Given the description of an element on the screen output the (x, y) to click on. 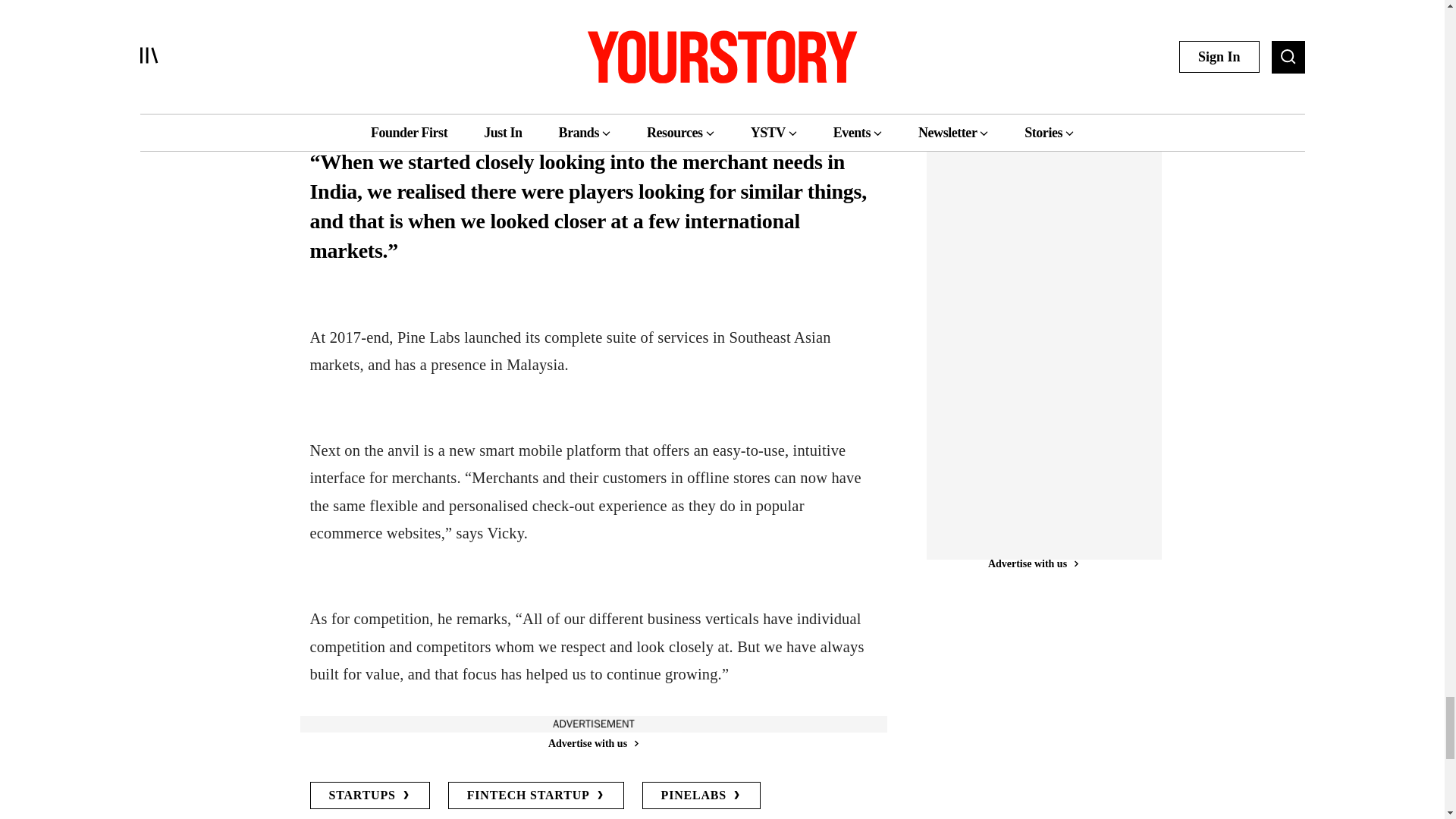
FINTECH STARTUP (536, 795)
STARTUPS (368, 795)
PINELABS (701, 795)
Advertise with us (592, 743)
